Given the description of an element on the screen output the (x, y) to click on. 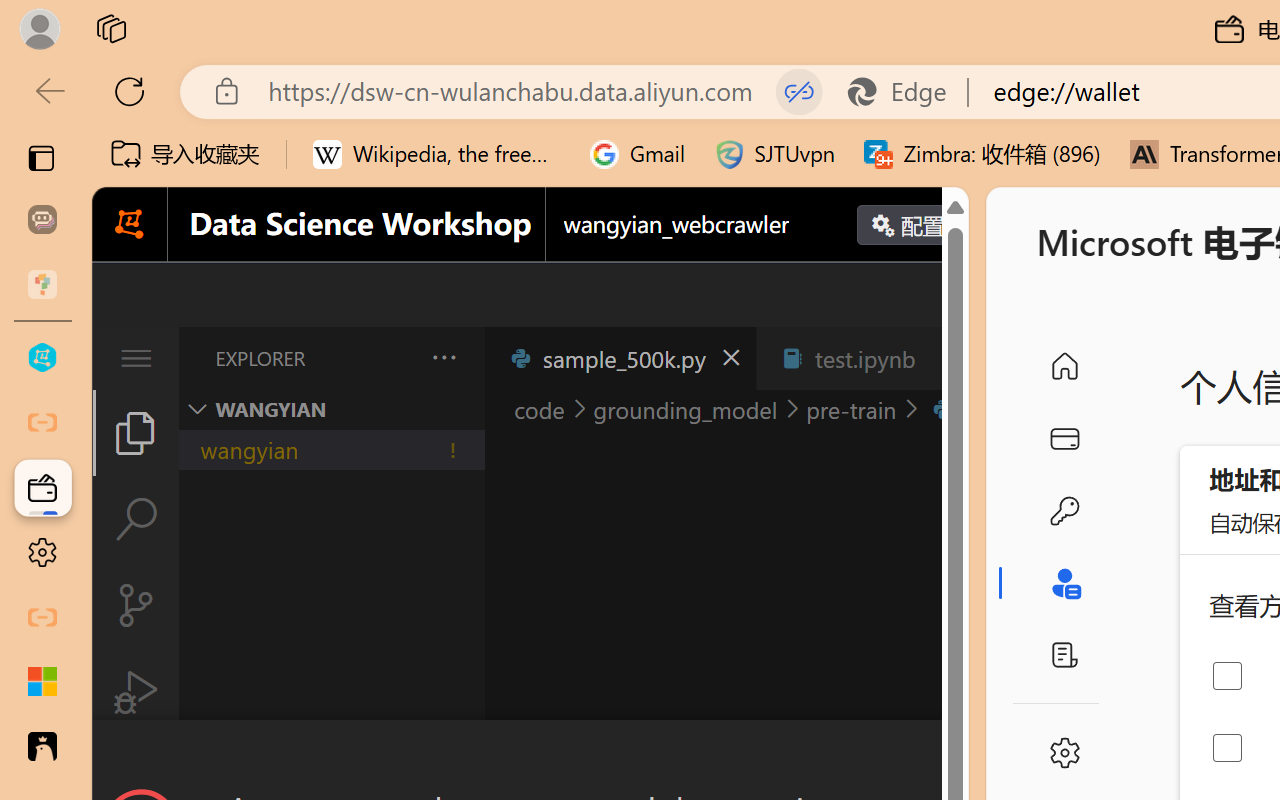
Explorer Section: wangyian (331, 409)
Run and Debug (Ctrl+Shift+D) (135, 692)
sample_500k.py (619, 358)
